Given the description of an element on the screen output the (x, y) to click on. 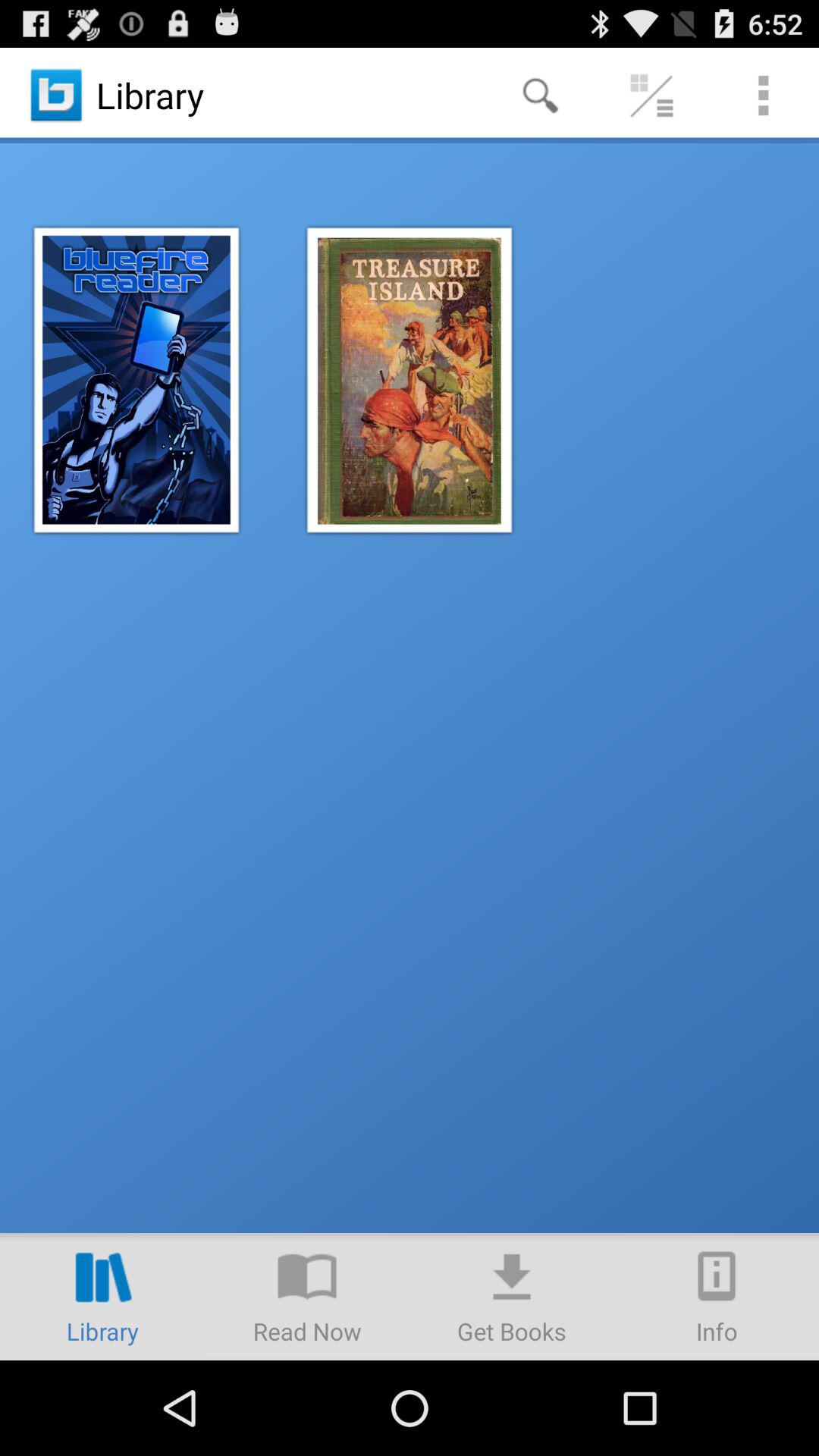
download book choices (511, 1296)
